Given the description of an element on the screen output the (x, y) to click on. 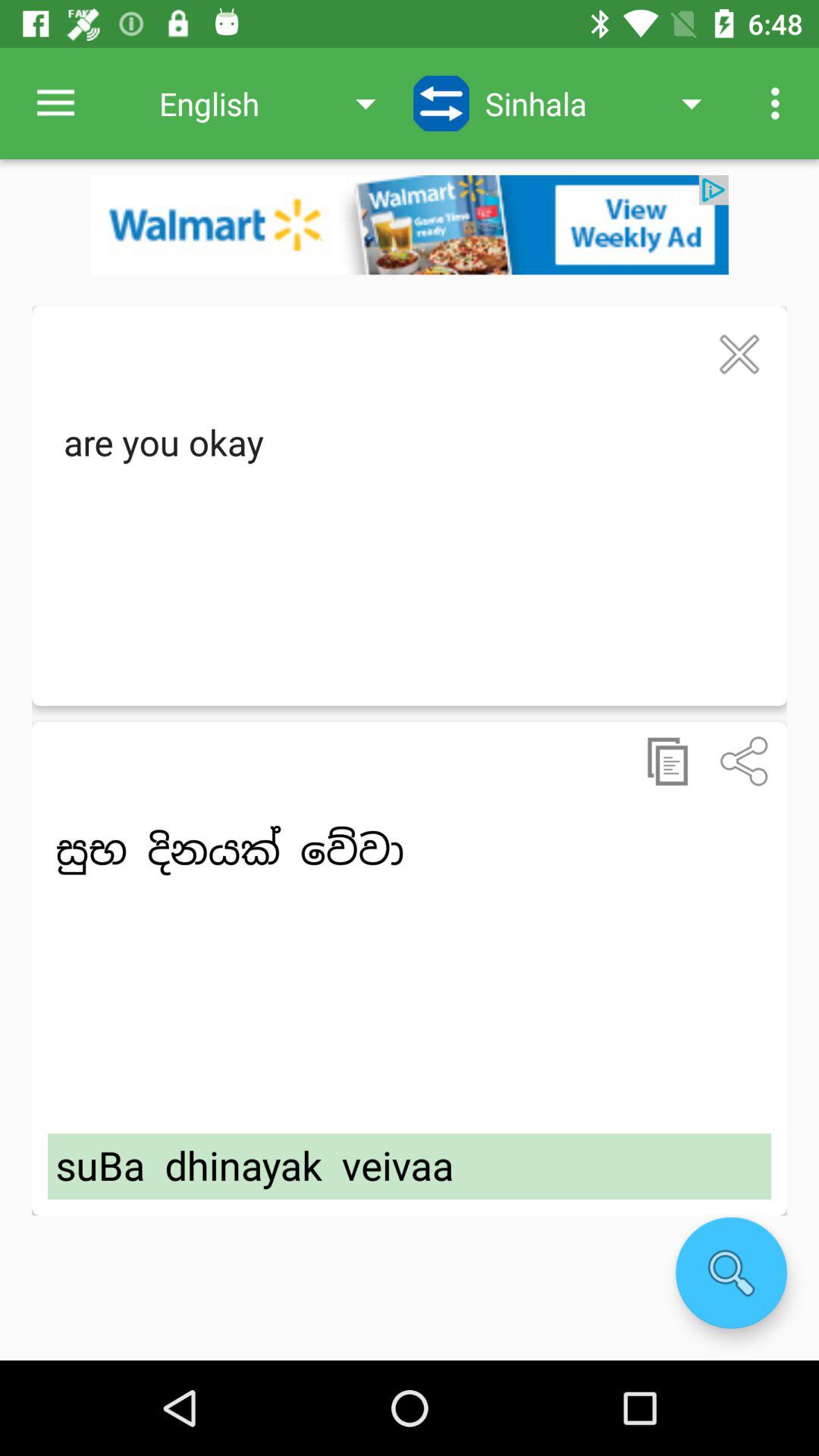
turn on item next to sinhala (779, 103)
